Given the description of an element on the screen output the (x, y) to click on. 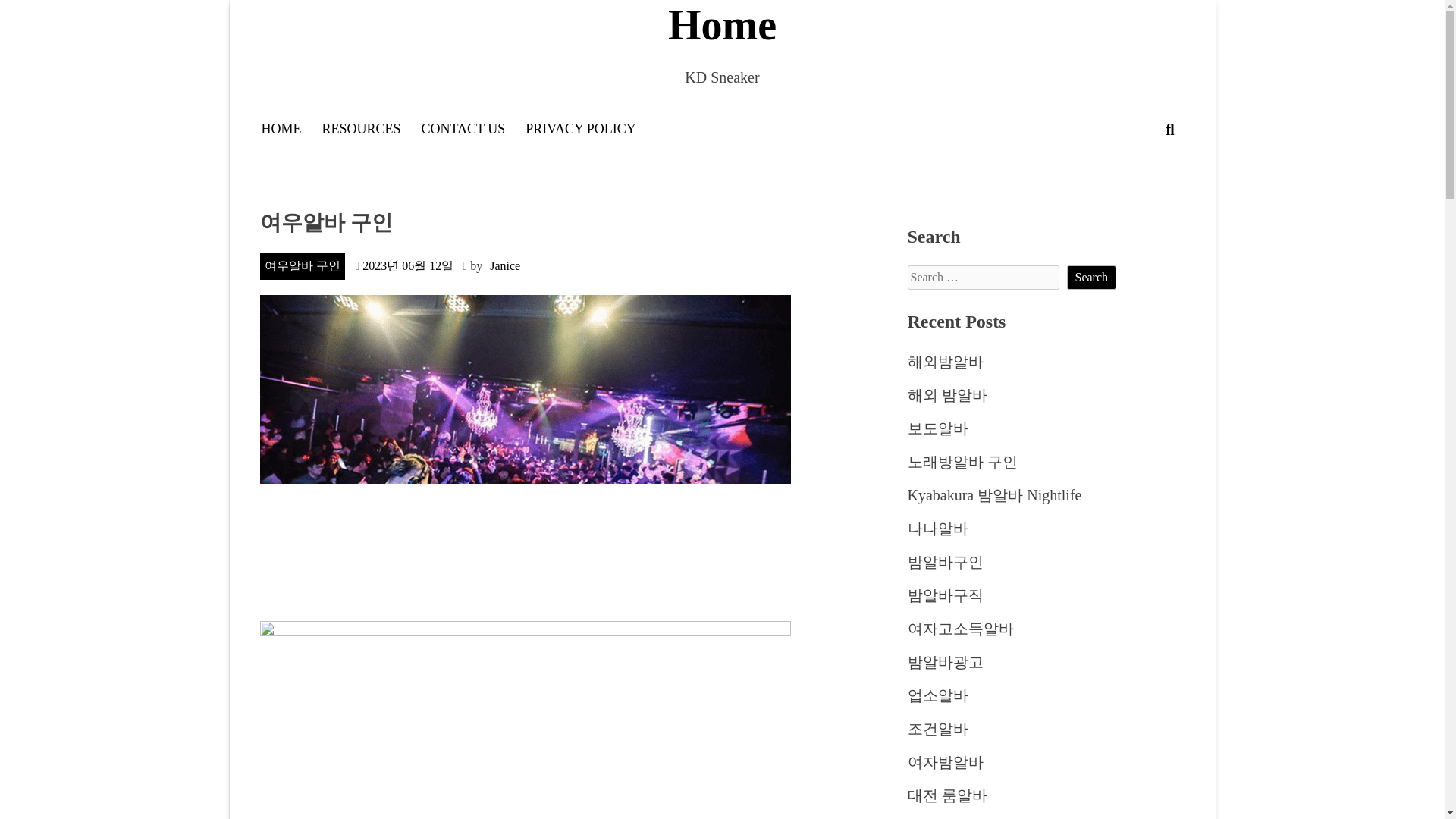
Home (721, 25)
RESOURCES (360, 128)
PRIVACY POLICY (580, 128)
Search (1090, 277)
Janice (504, 265)
Search (1160, 173)
HOME (280, 128)
Search (1090, 277)
CONTACT US (463, 128)
Search (1090, 277)
